Given the description of an element on the screen output the (x, y) to click on. 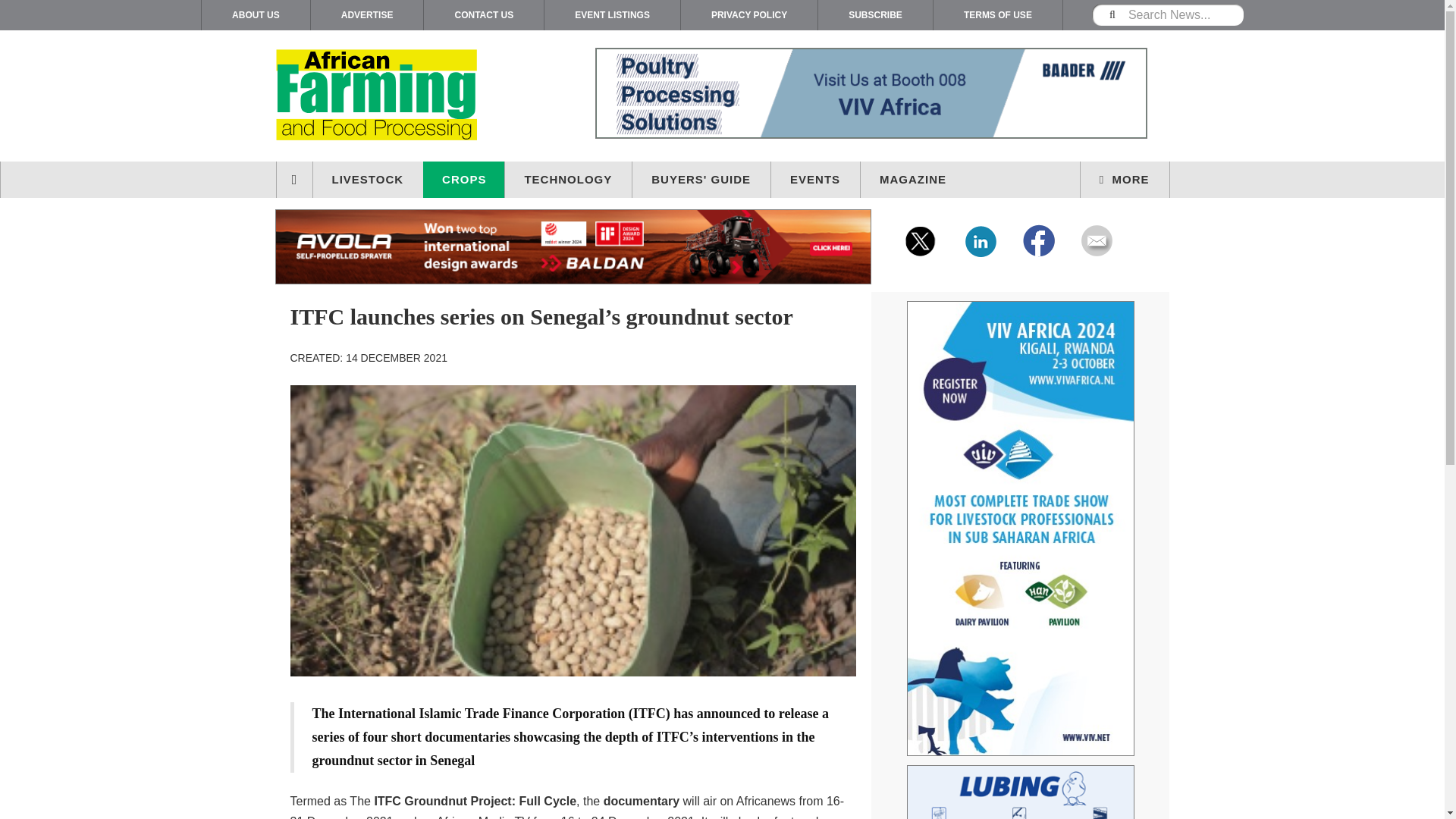
EVENTS (815, 179)
PRIVACY POLICY (748, 15)
HOME (295, 179)
TECHNOLOGY (568, 179)
TERMS OF USE (997, 15)
African Review of Business and Technology (405, 95)
ADVERTISE (367, 15)
CONTACT US (483, 15)
EVENT LISTINGS (611, 15)
LIVESTOCK (368, 179)
MAGAZINE (913, 179)
BUYERS' GUIDE (700, 179)
SUBSCRIBE (875, 15)
CROPS (464, 179)
ABOUT US (256, 15)
